Given the description of an element on the screen output the (x, y) to click on. 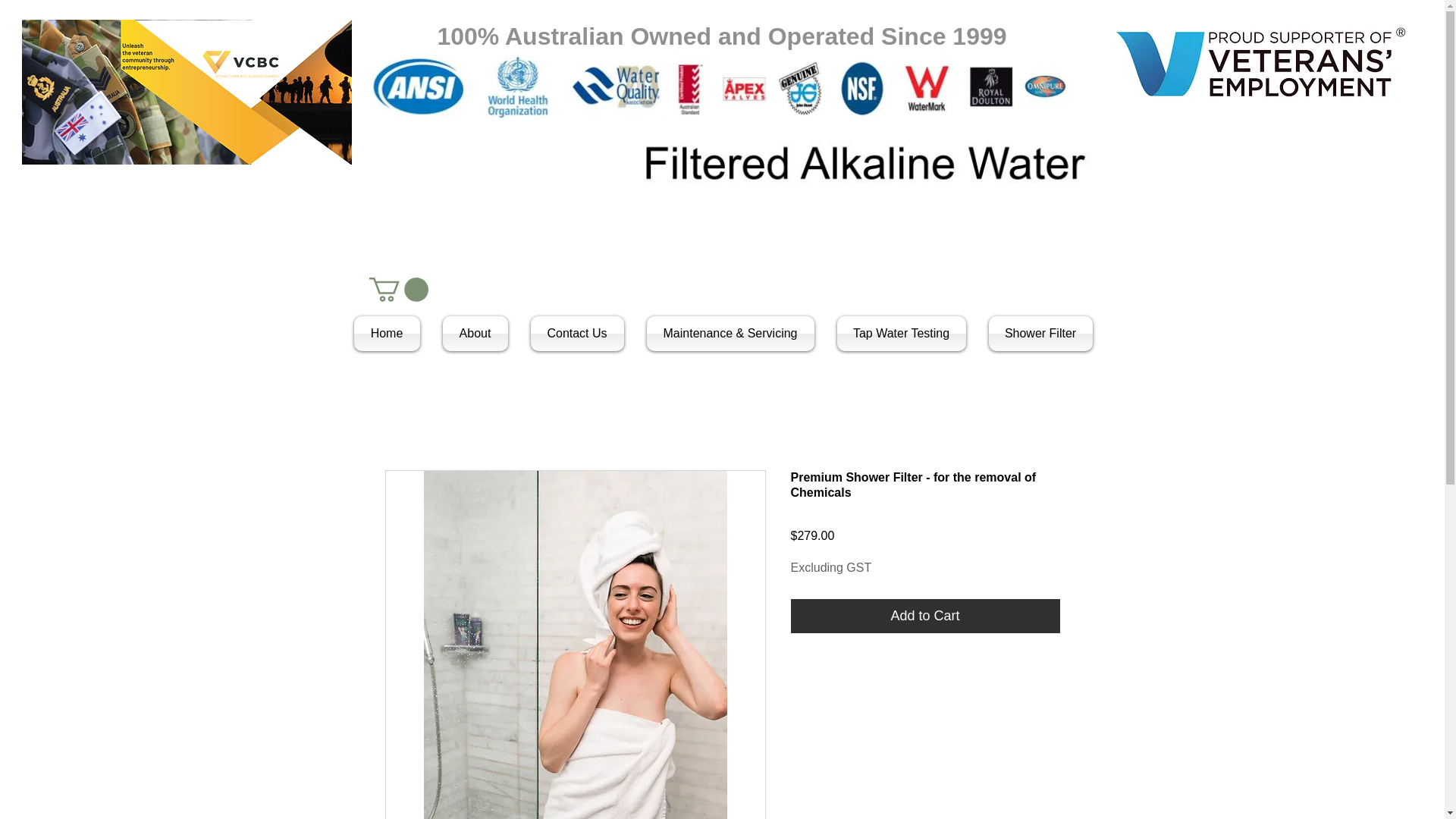
Home (391, 333)
VCBC Logo.png (185, 91)
About (474, 333)
Shower Filter (1034, 333)
Tap Water Testing (900, 333)
VEC Supporter logo inline.jpg (1259, 61)
Add to Cart (924, 615)
Contact Us (576, 333)
